Given the description of an element on the screen output the (x, y) to click on. 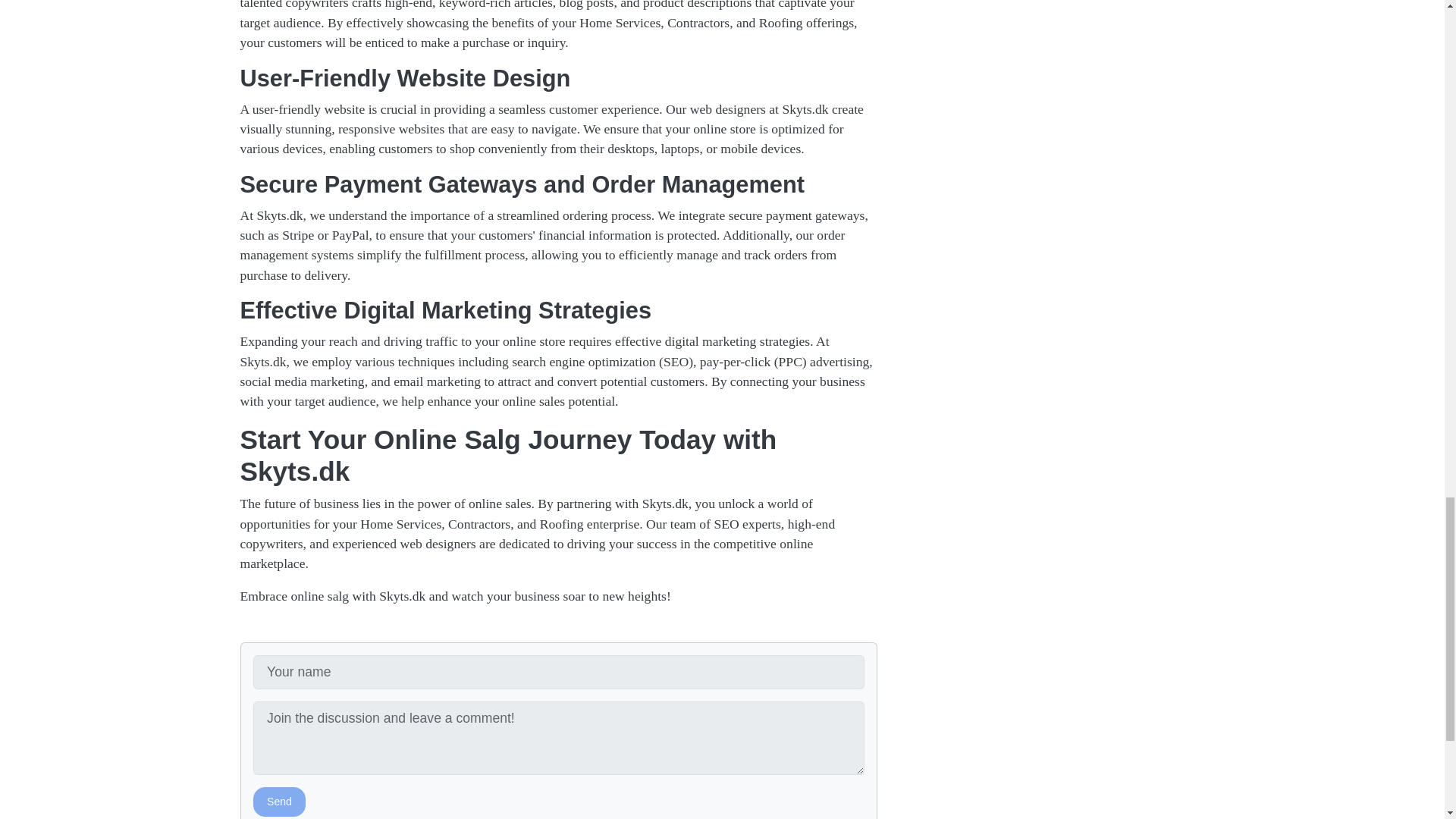
Send (279, 801)
Send (279, 801)
